Given the description of an element on the screen output the (x, y) to click on. 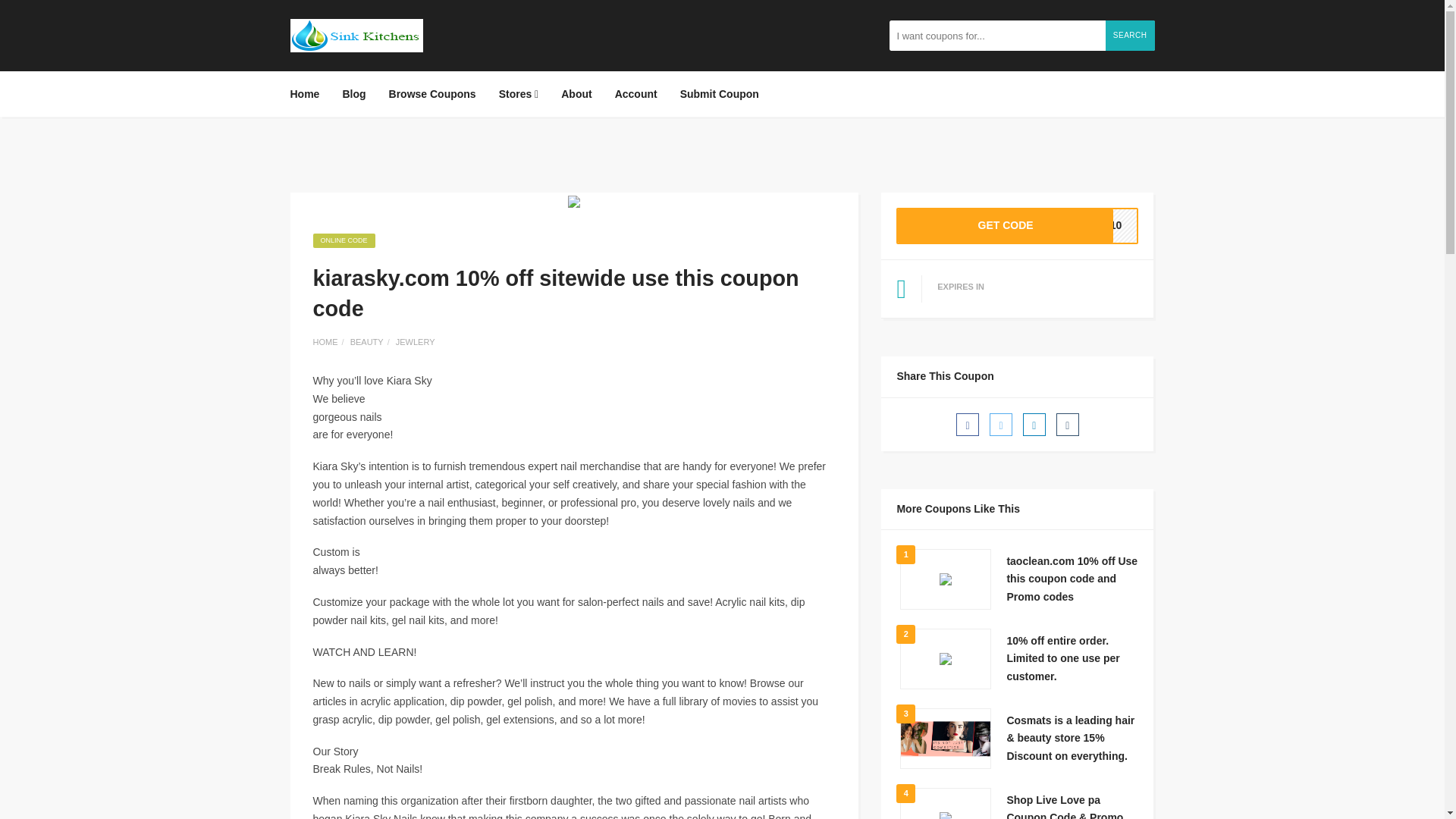
About (1017, 226)
Browse Coupons (576, 94)
Share on Twitter (432, 94)
Share on Tumblr (1000, 424)
Account (1067, 424)
Share on LinkedIn (636, 94)
Blog (1034, 424)
About (353, 94)
Account (576, 94)
Stores (636, 94)
BEAUTY (518, 94)
JEWLERY (367, 341)
Home (415, 341)
Submit Coupon (309, 94)
